Given the description of an element on the screen output the (x, y) to click on. 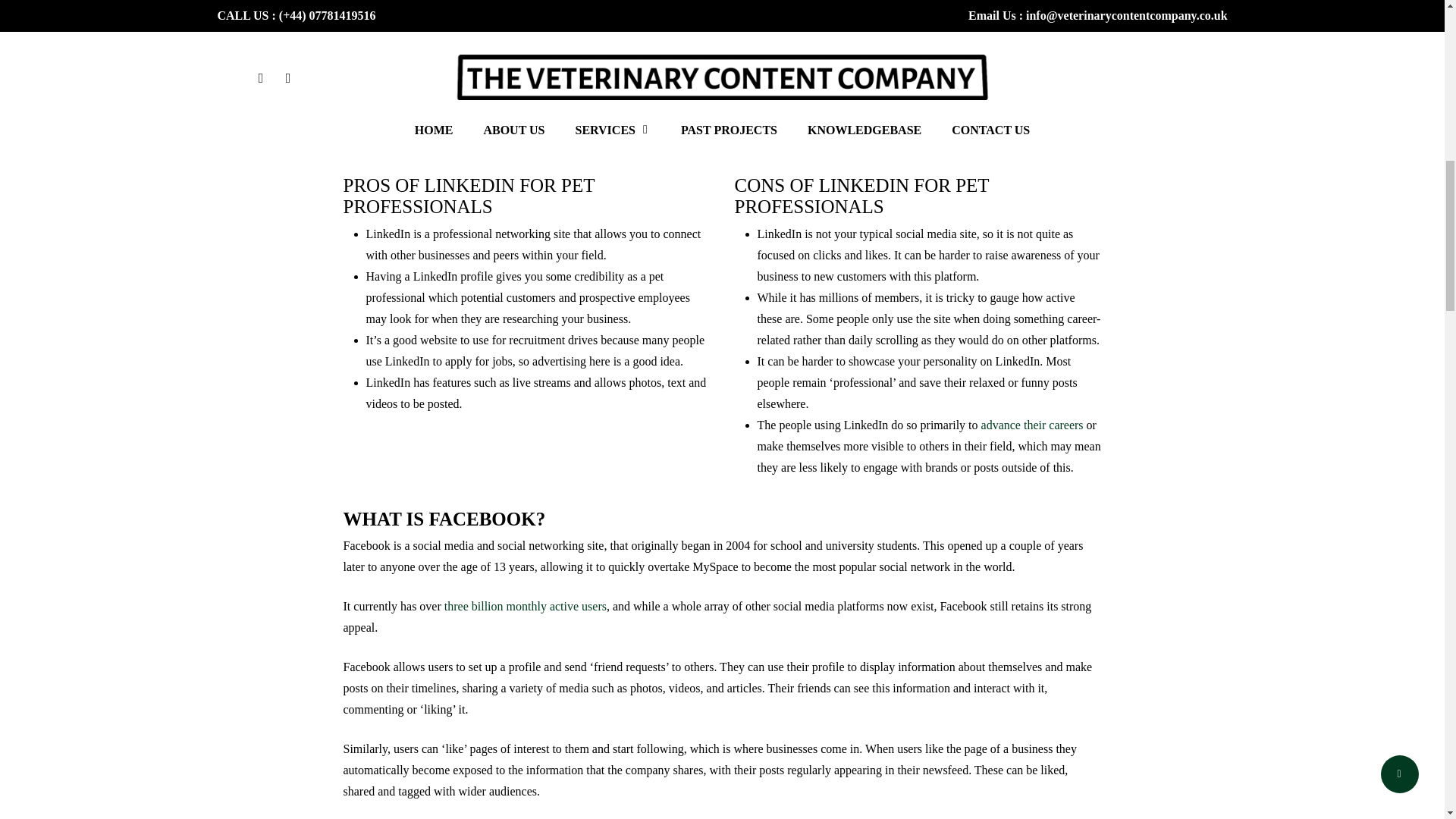
930 million members (659, 84)
prospective employers when researching companies (736, 145)
advance their careers (1032, 424)
three billion monthly active users (525, 605)
